Given the description of an element on the screen output the (x, y) to click on. 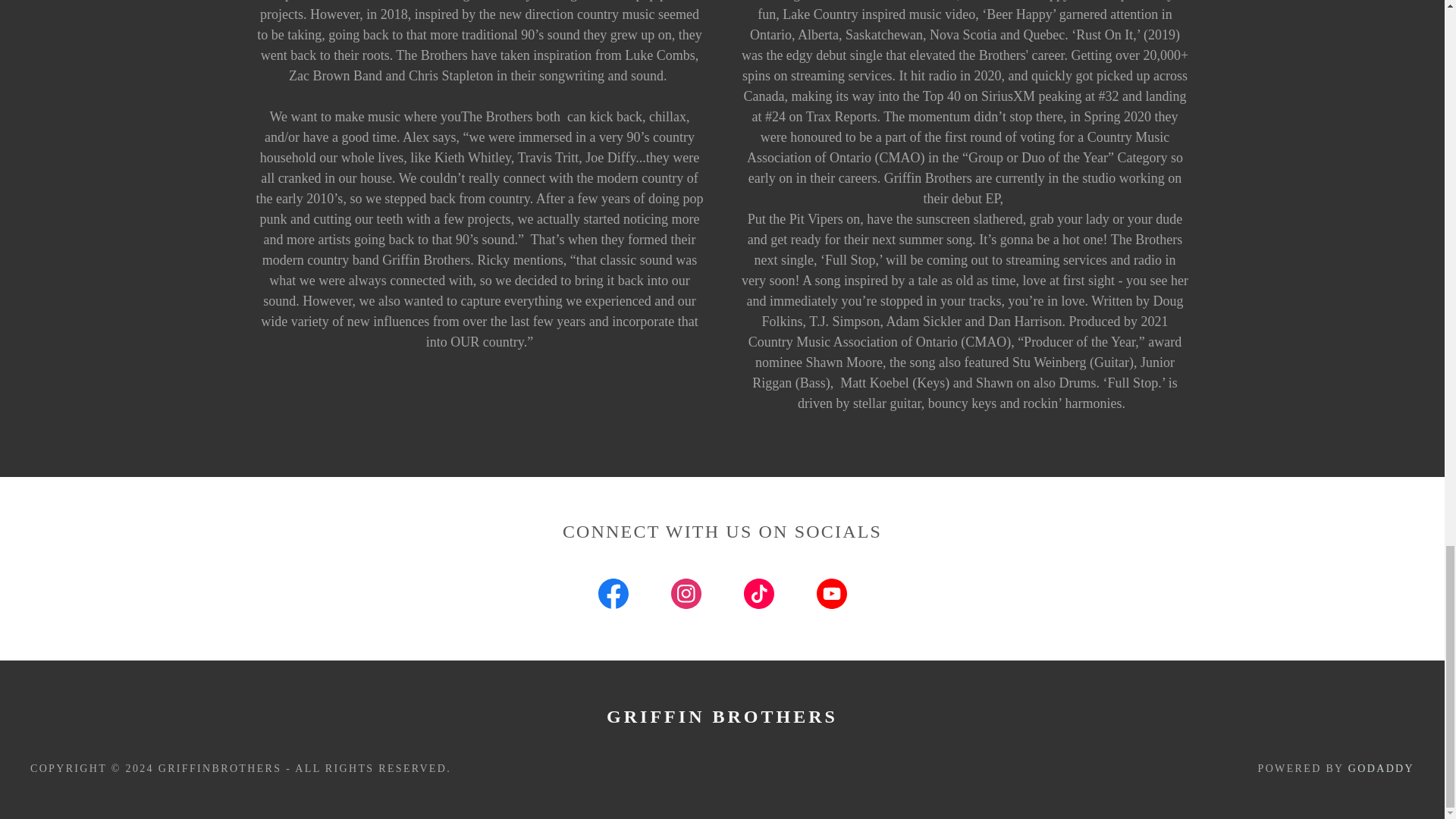
GODADDY (1380, 767)
